Given the description of an element on the screen output the (x, y) to click on. 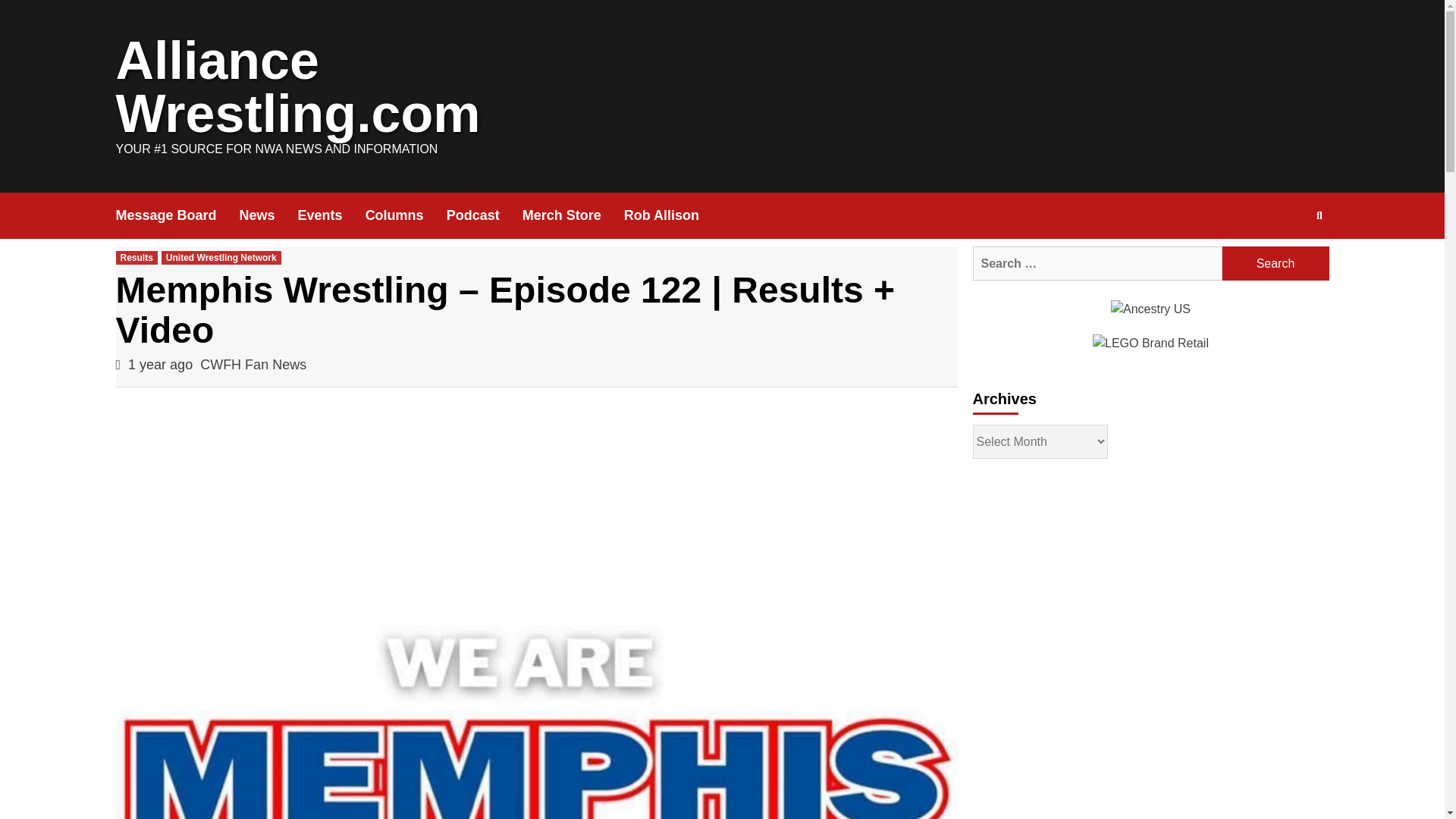
Merch Store (573, 215)
Search (1276, 263)
Podcast (484, 215)
Rob Allison (673, 215)
News (269, 215)
Search (1276, 263)
United Wrestling Network (221, 257)
Results (136, 257)
Columns (405, 215)
Events (331, 215)
